Given the description of an element on the screen output the (x, y) to click on. 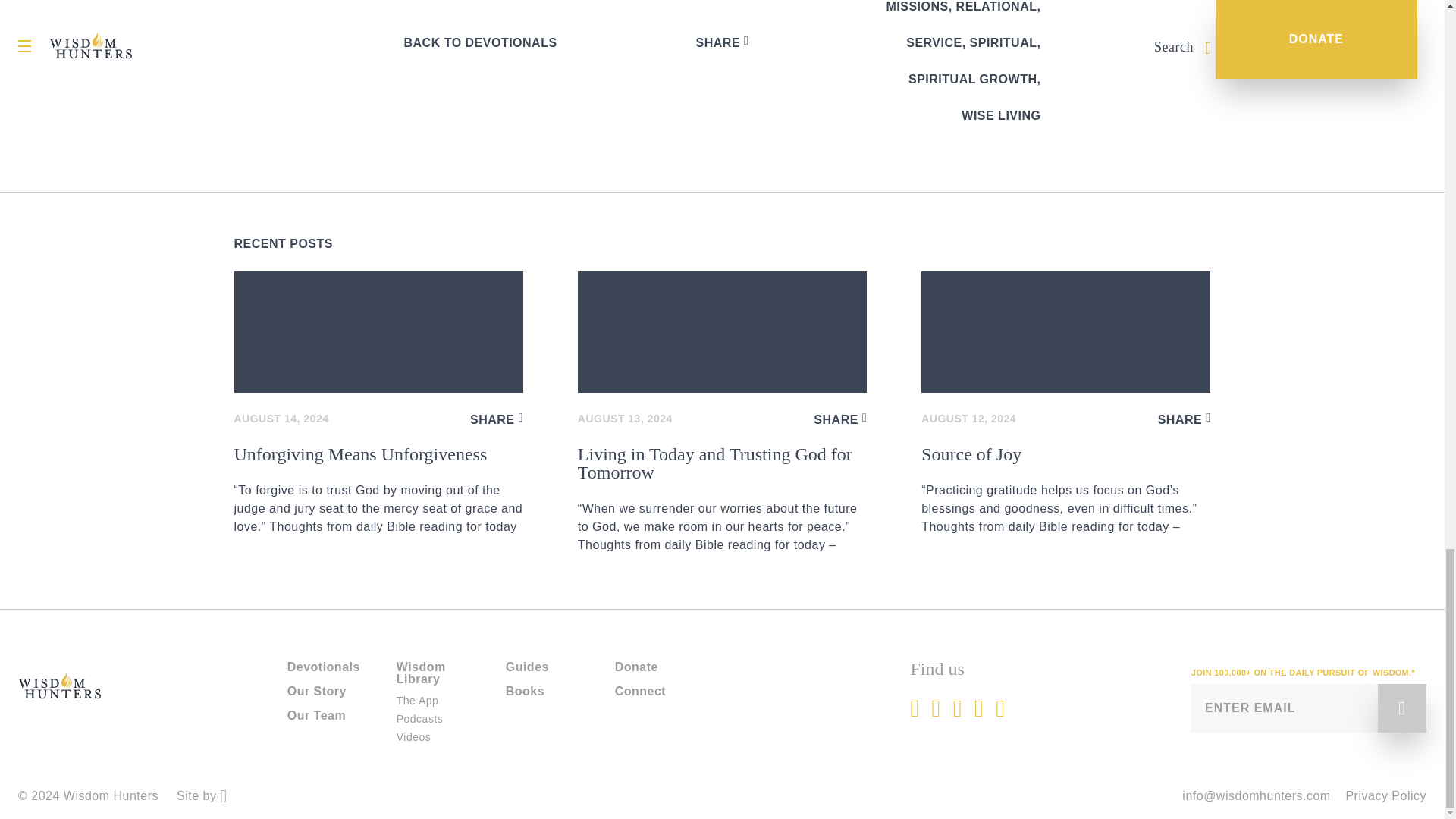
BACK TO DEVOTIONALS (479, 42)
MISSIONS (916, 7)
SPIRITUAL (1002, 42)
RELATIONAL (996, 7)
Permalink to: Living in Today and Trusting God for Tomorrow (722, 332)
Send (1401, 707)
Permalink to: Source of Joy (1065, 489)
Permalink to: Unforgiving Means Unforgiveness (377, 489)
SERVICE (932, 42)
SPIRITUAL GROWTH (972, 78)
